Given the description of an element on the screen output the (x, y) to click on. 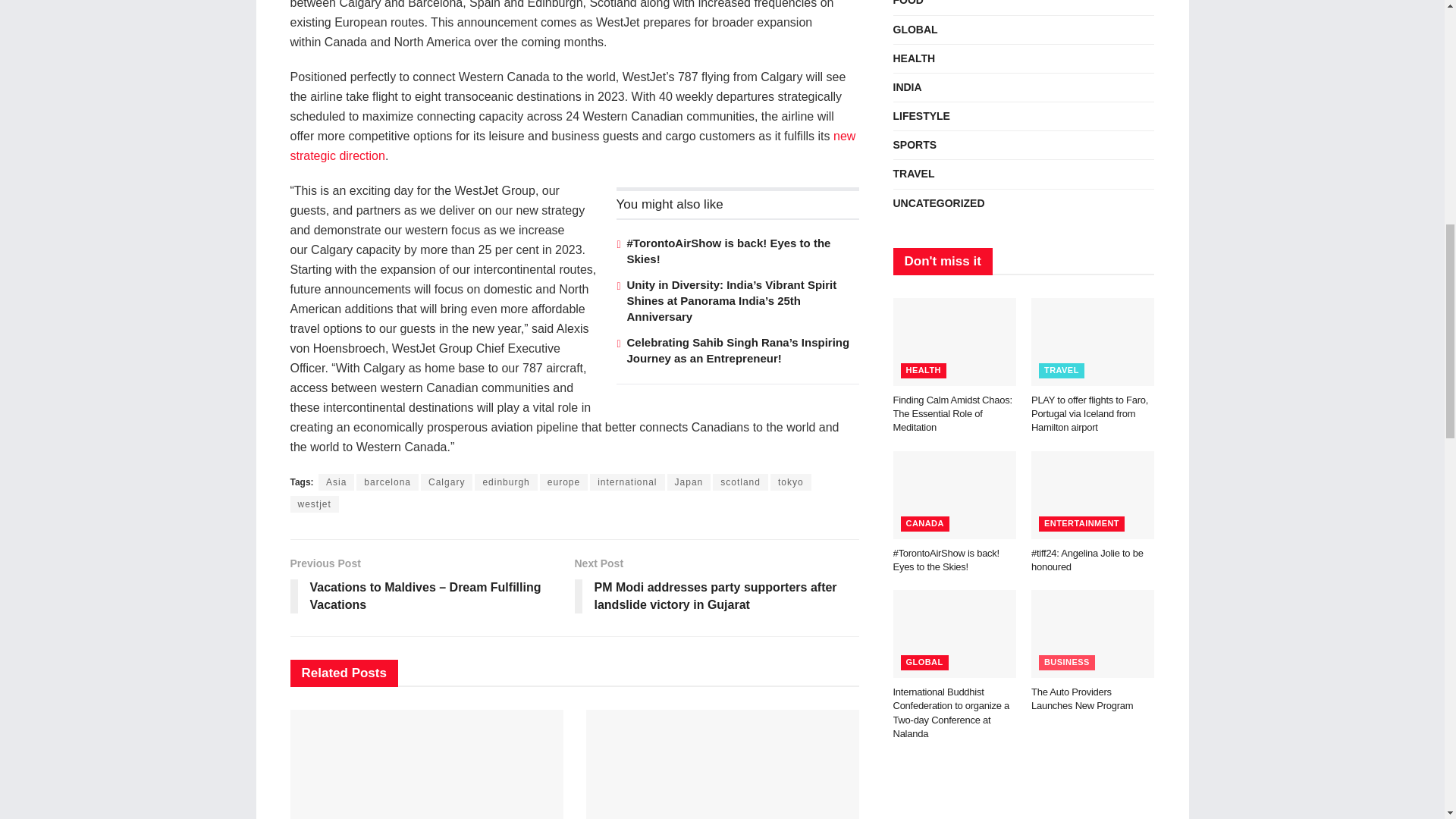
new strategic direction (572, 145)
Asia (335, 482)
barcelona (387, 482)
